Given the description of an element on the screen output the (x, y) to click on. 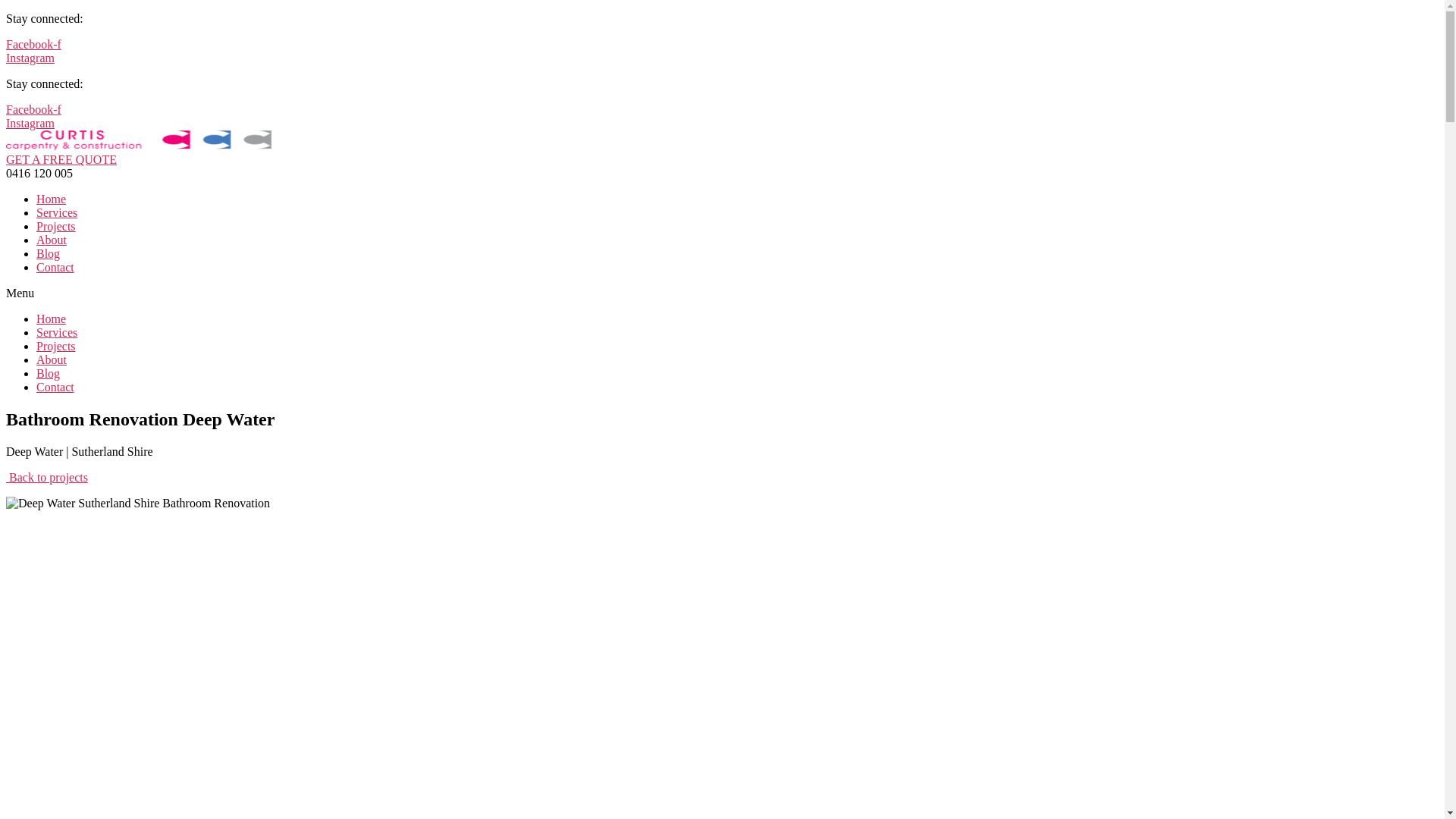
GET A FREE QUOTE Element type: text (61, 159)
Contact Element type: text (55, 386)
Blog Element type: text (47, 373)
Facebook-f Element type: text (33, 109)
Services Element type: text (56, 332)
Contact Element type: text (55, 266)
Facebook-f Element type: text (33, 43)
Services Element type: text (56, 212)
Projects Element type: text (55, 345)
Home Element type: text (50, 198)
Home Element type: text (50, 318)
Projects Element type: text (55, 225)
About Element type: text (51, 239)
 Back to projects Element type: text (46, 476)
Instagram Element type: text (30, 57)
About Element type: text (51, 359)
Blog Element type: text (47, 253)
Instagram Element type: text (30, 122)
